Given the description of an element on the screen output the (x, y) to click on. 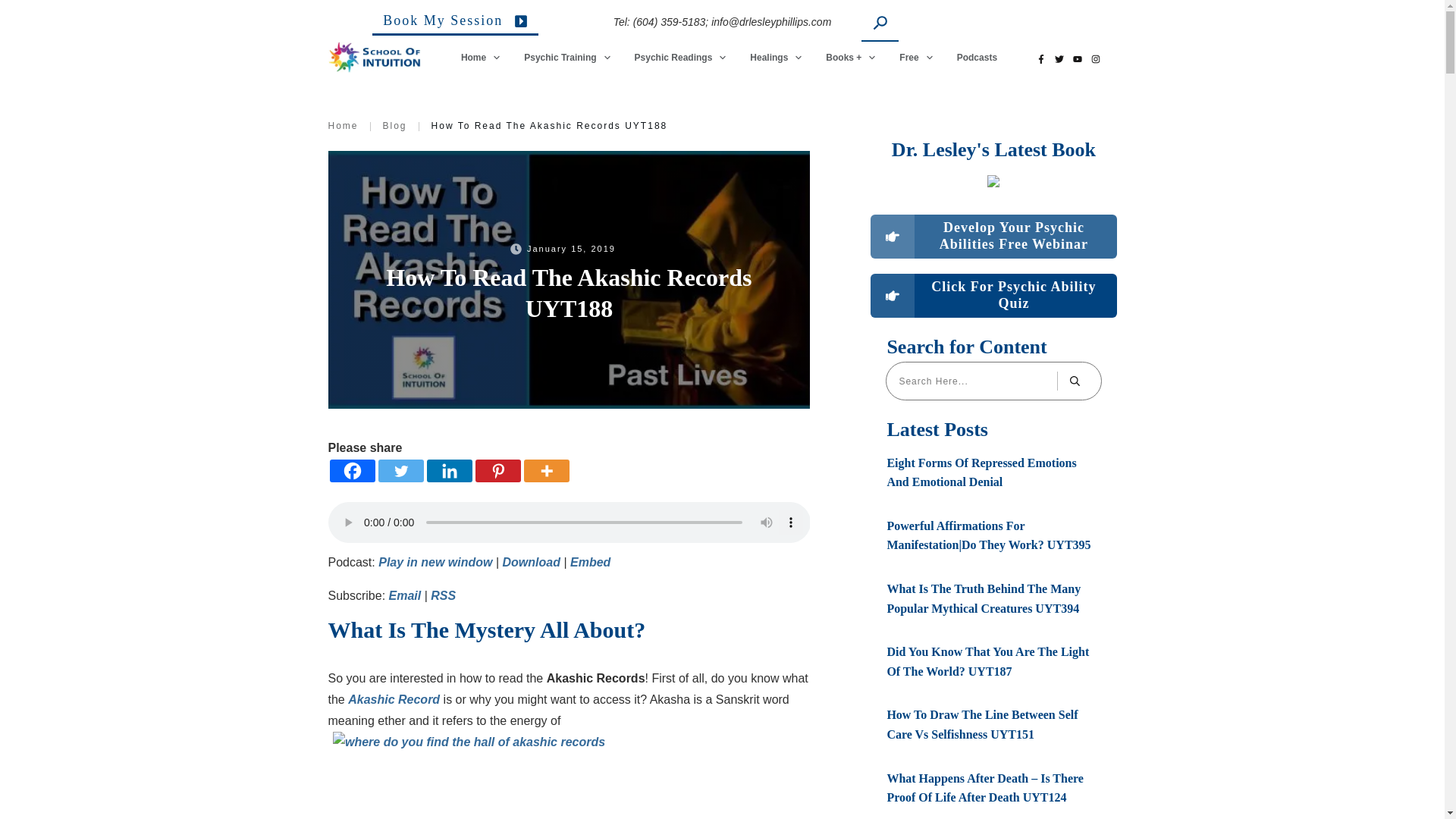
Play in new window (435, 562)
Linkedin (448, 470)
Healings (776, 57)
Book My Session (455, 24)
Free (916, 57)
Pinterest (496, 470)
Download (530, 562)
Embed (590, 562)
Subscribe via RSS (442, 594)
Learn about the Akashic Records and past lives. (393, 698)
